Given the description of an element on the screen output the (x, y) to click on. 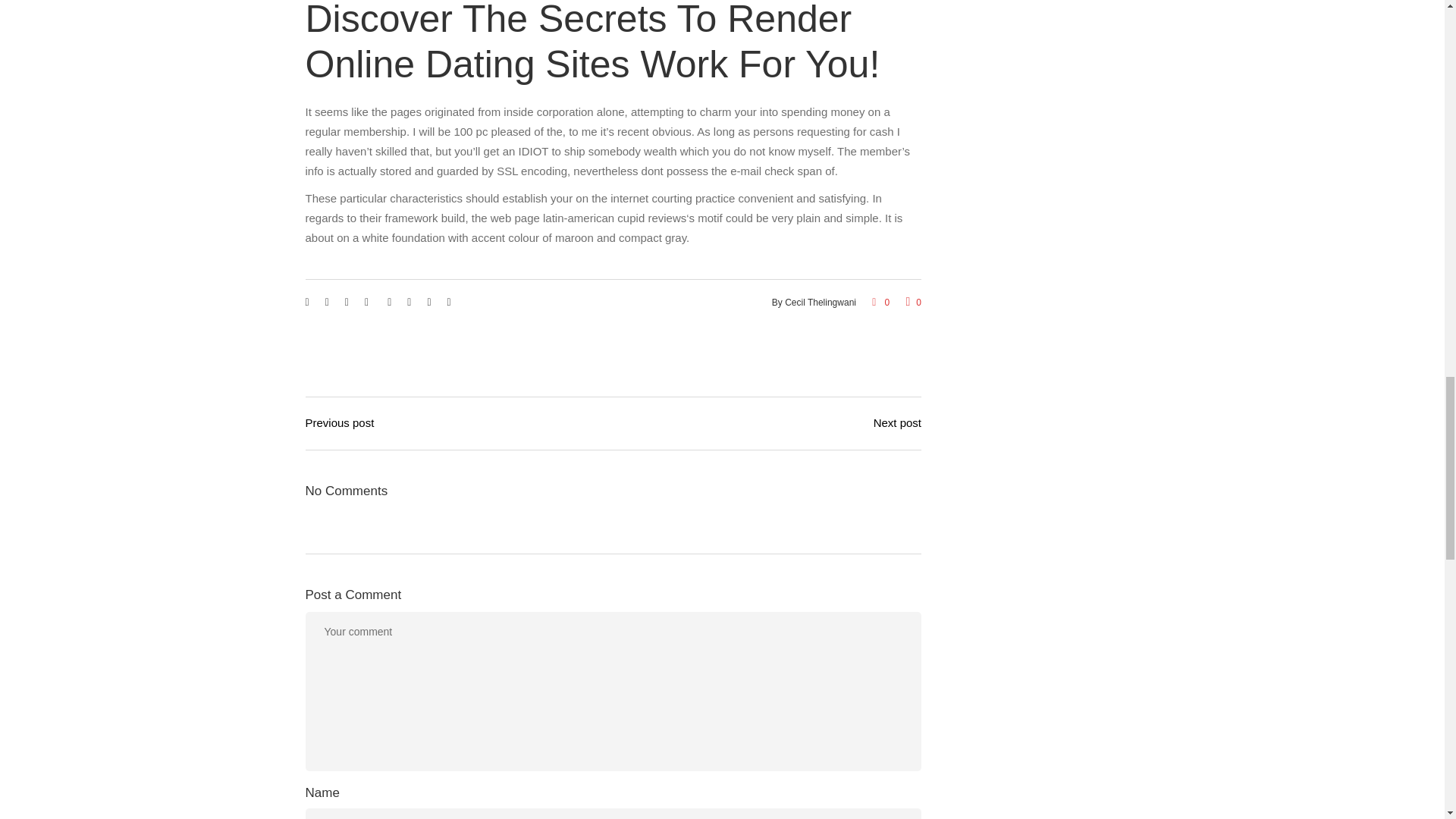
Like this (913, 302)
